Given the description of an element on the screen output the (x, y) to click on. 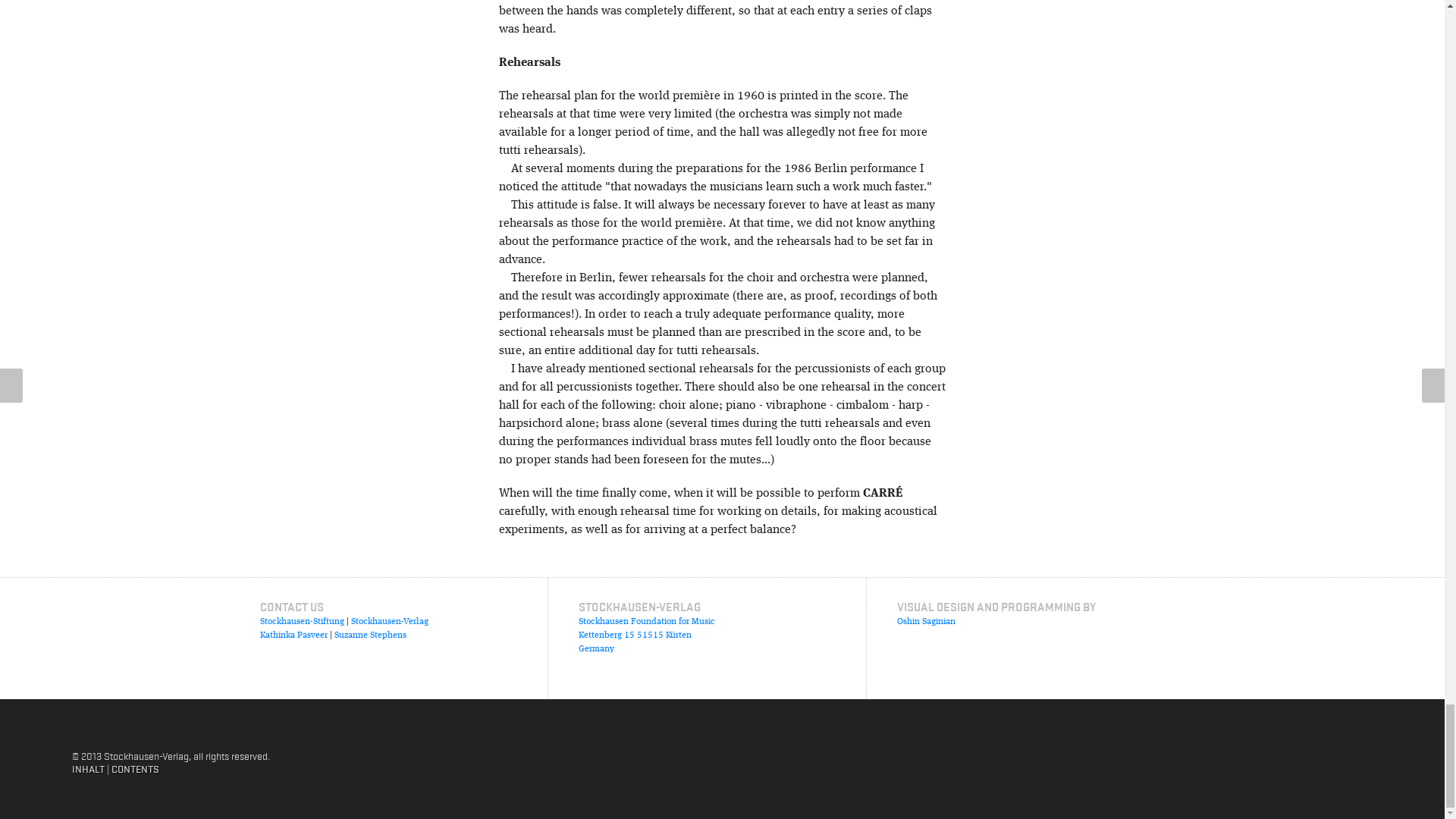
Stockhausen-Stiftung (301, 621)
Stockhausen-Verlag (389, 621)
Oshin Saginian (925, 621)
Kathinka Pasveer (292, 634)
CONTENTS (135, 768)
Stockhausen Verlag (1231, 751)
INHALT (87, 768)
Suzanne Stephens (369, 634)
